Given the description of an element on the screen output the (x, y) to click on. 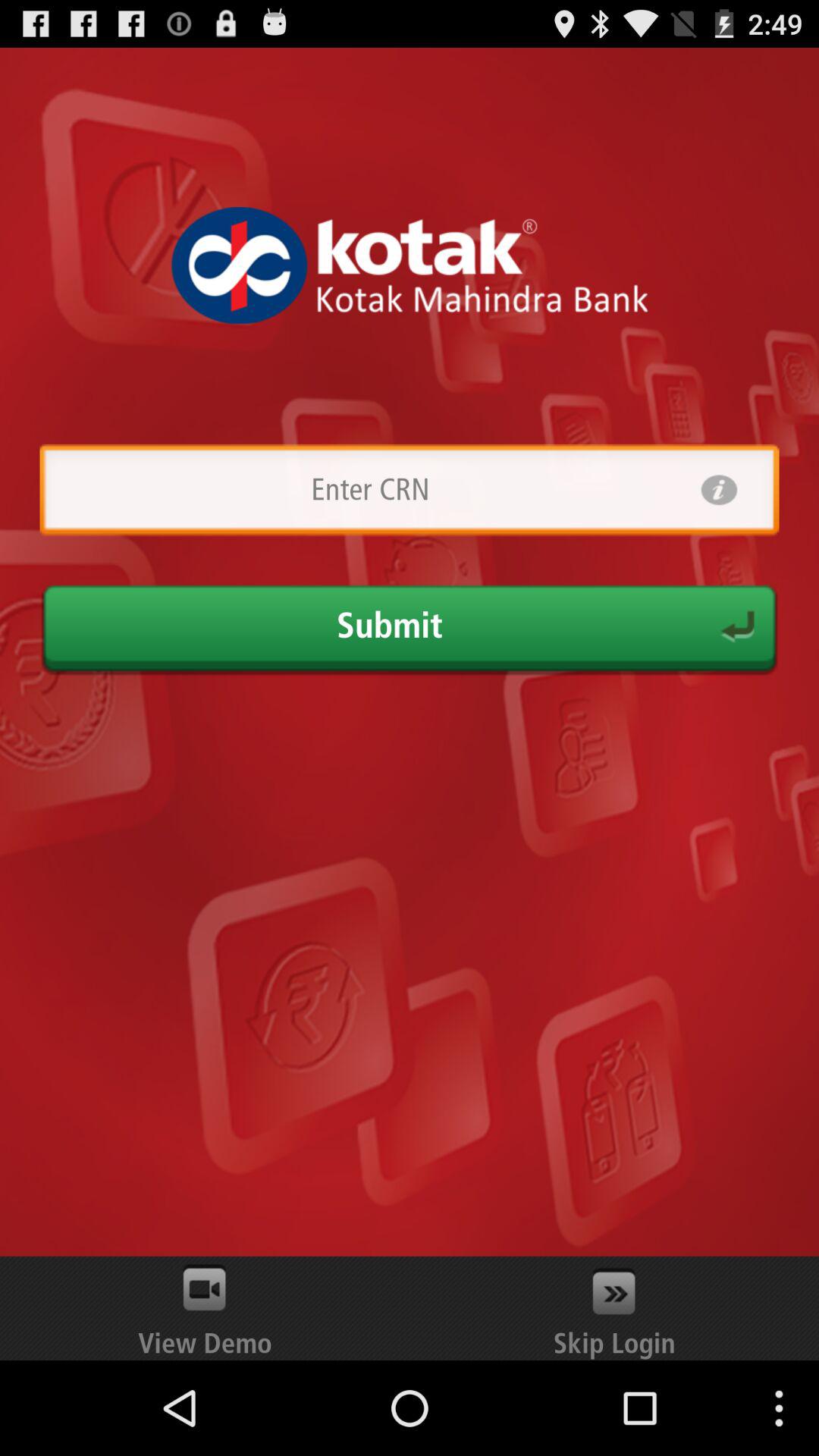
enter crn (370, 489)
